Given the description of an element on the screen output the (x, y) to click on. 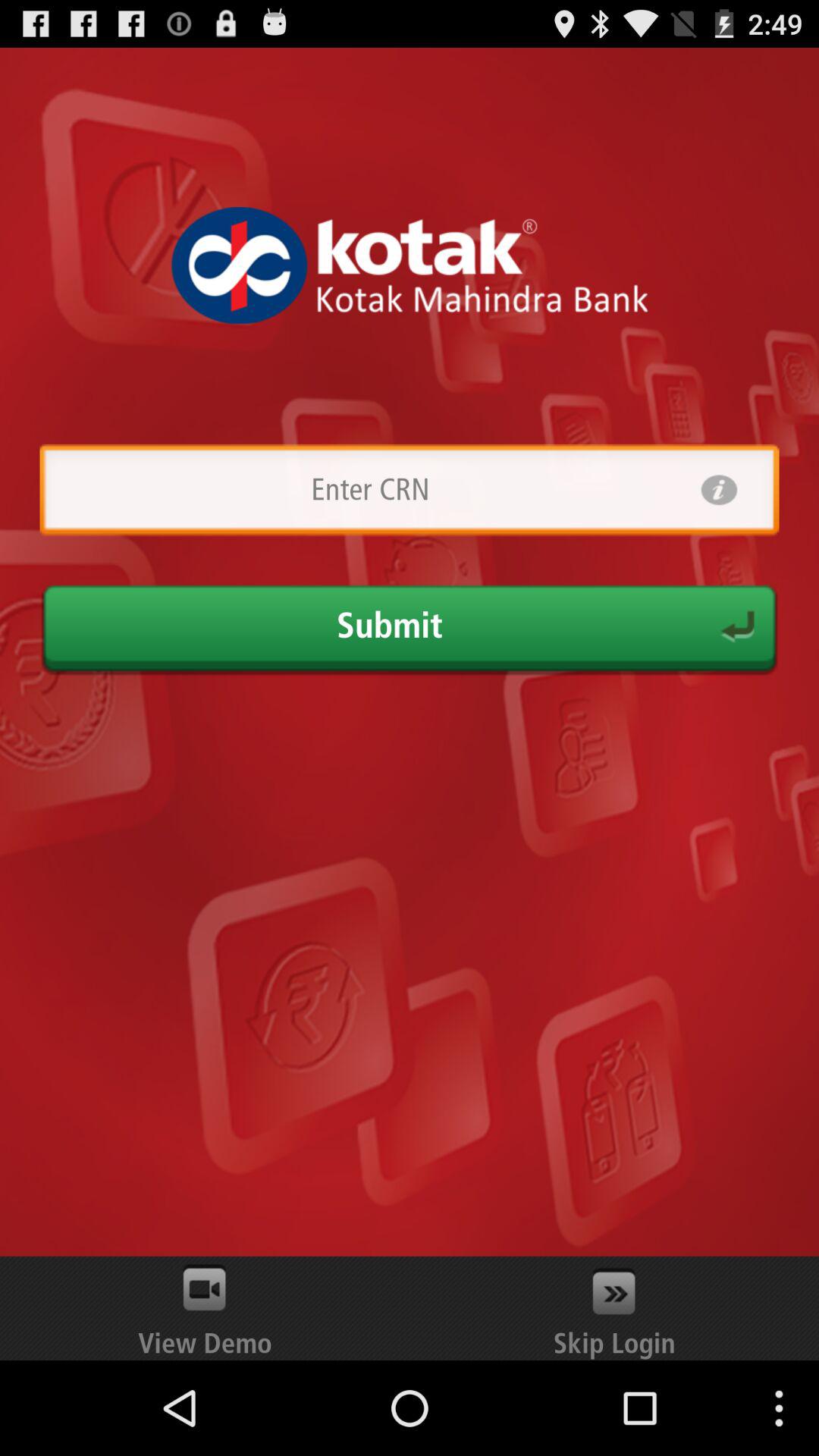
enter crn (370, 489)
